Given the description of an element on the screen output the (x, y) to click on. 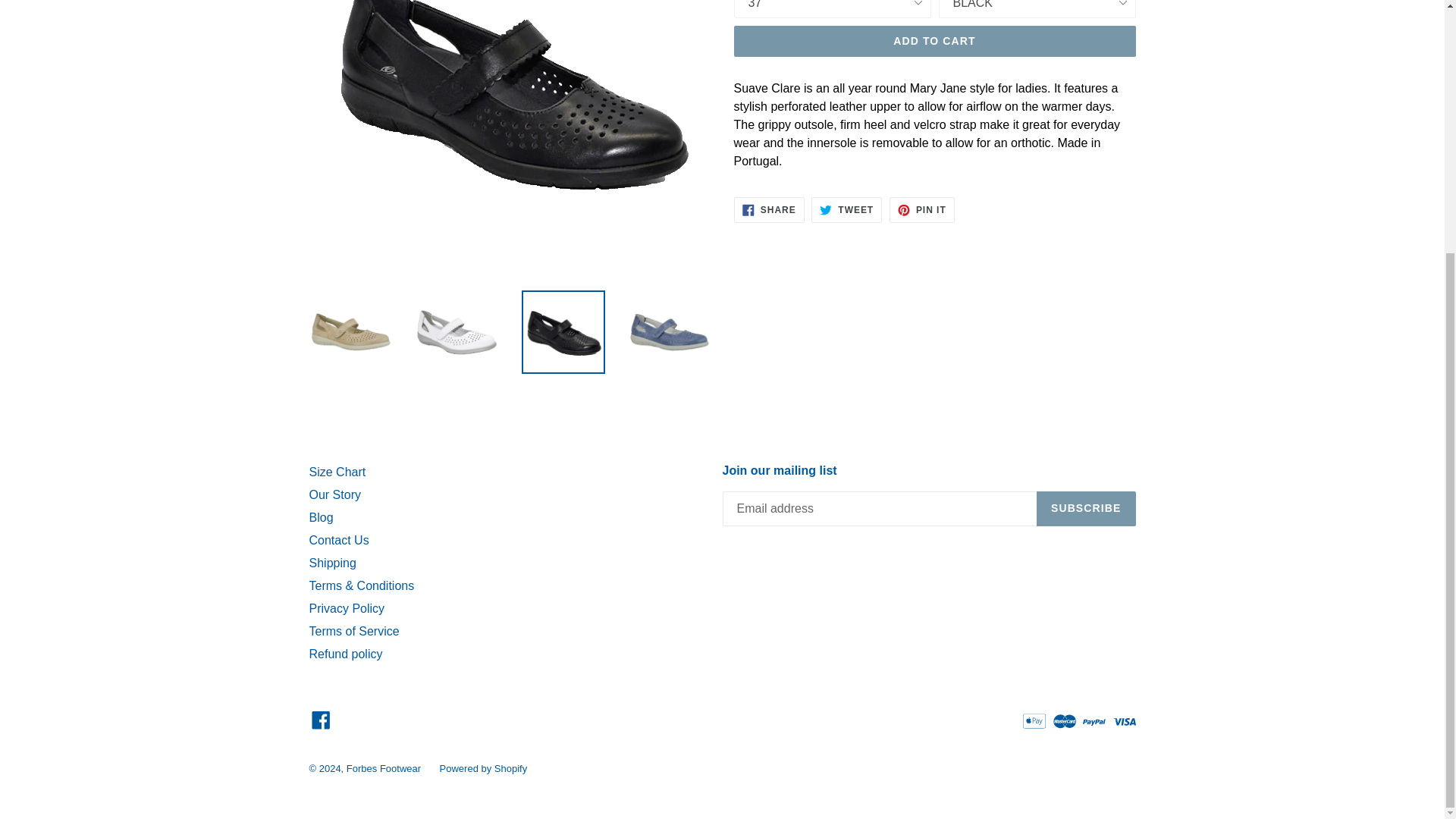
Pin on Pinterest (922, 209)
Forbes Footwear on Facebook (320, 719)
Tweet on Twitter (846, 209)
Share on Facebook (769, 209)
